Given the description of an element on the screen output the (x, y) to click on. 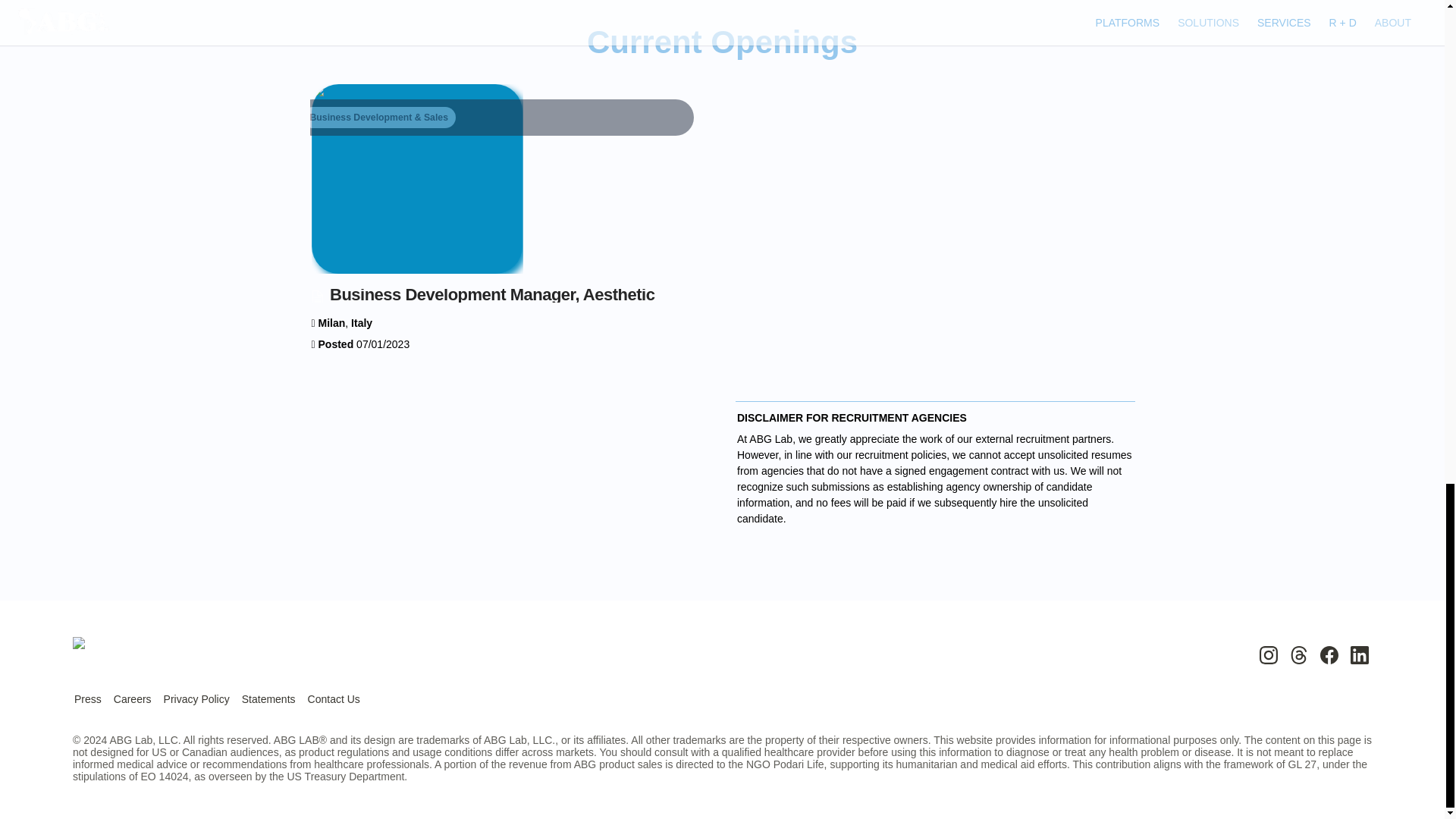
Statements (268, 698)
Privacy Policy (196, 698)
Careers (132, 698)
Threads (1298, 655)
Instagram (1268, 655)
Contact Us (333, 698)
LinkedIn (1359, 655)
Facebook (1329, 655)
Facebook (1329, 655)
Business Development Manager, Aesthetic (508, 197)
Threads (1298, 655)
Press (87, 698)
Instagram (1268, 655)
LinkedIn (1359, 655)
